Given the description of an element on the screen output the (x, y) to click on. 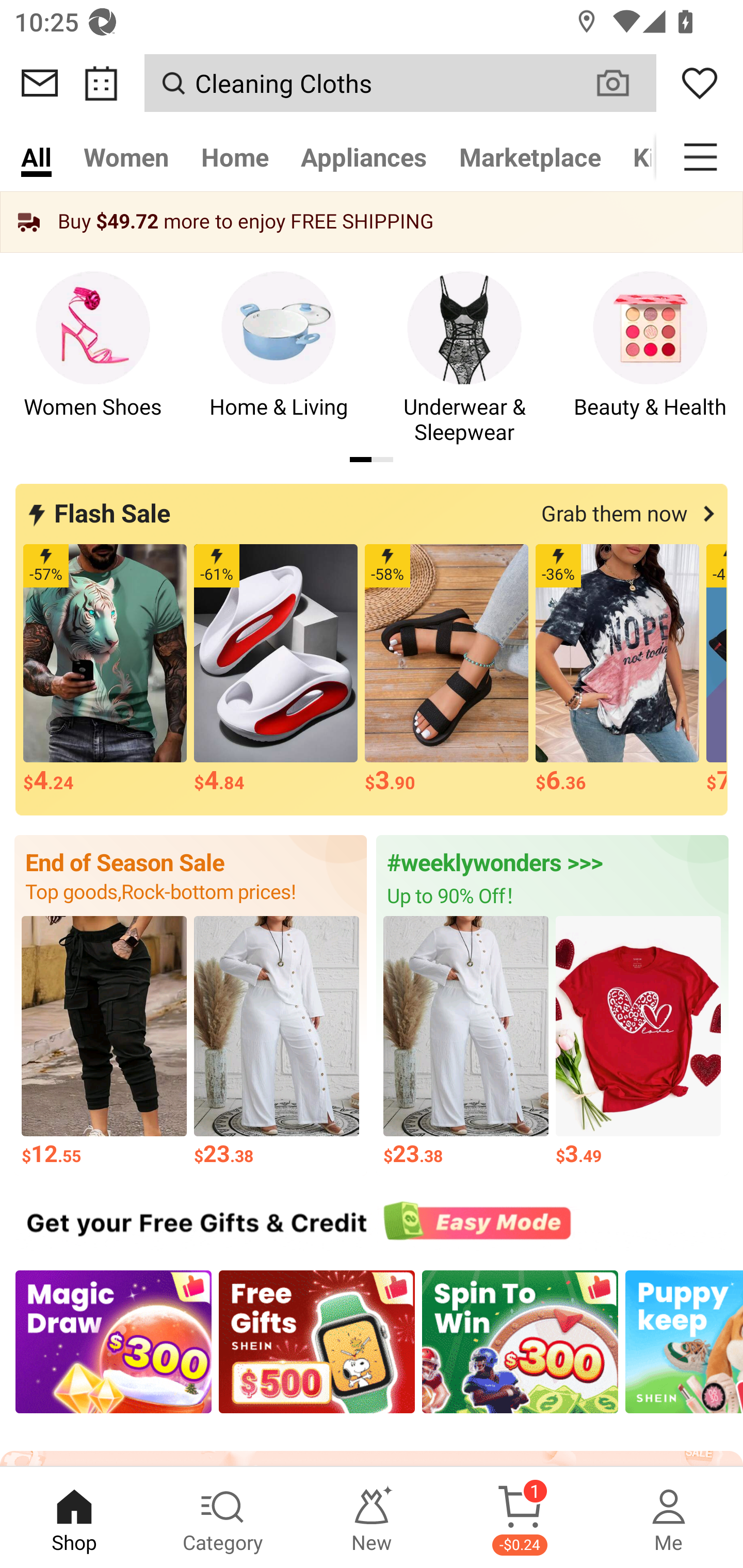
Wishlist (699, 82)
VISUAL SEARCH (623, 82)
All (36, 156)
Women (126, 156)
Home (234, 156)
Appliances (363, 156)
Marketplace (530, 156)
Buy $49.72 more to enjoy FREE SHIPPING (371, 221)
Women Shoes (92, 358)
Home & Living (278, 358)
Underwear & Sleepwear (464, 358)
Beauty & Health (650, 358)
$12.55 Price $12.55 (103, 1041)
$23.38 Price $23.38 (276, 1041)
$23.38 Price $23.38 (465, 1041)
$3.49 Price $3.49 (638, 1041)
Category (222, 1517)
New (371, 1517)
Cart 1 -$0.24 (519, 1517)
Me (668, 1517)
